Given the description of an element on the screen output the (x, y) to click on. 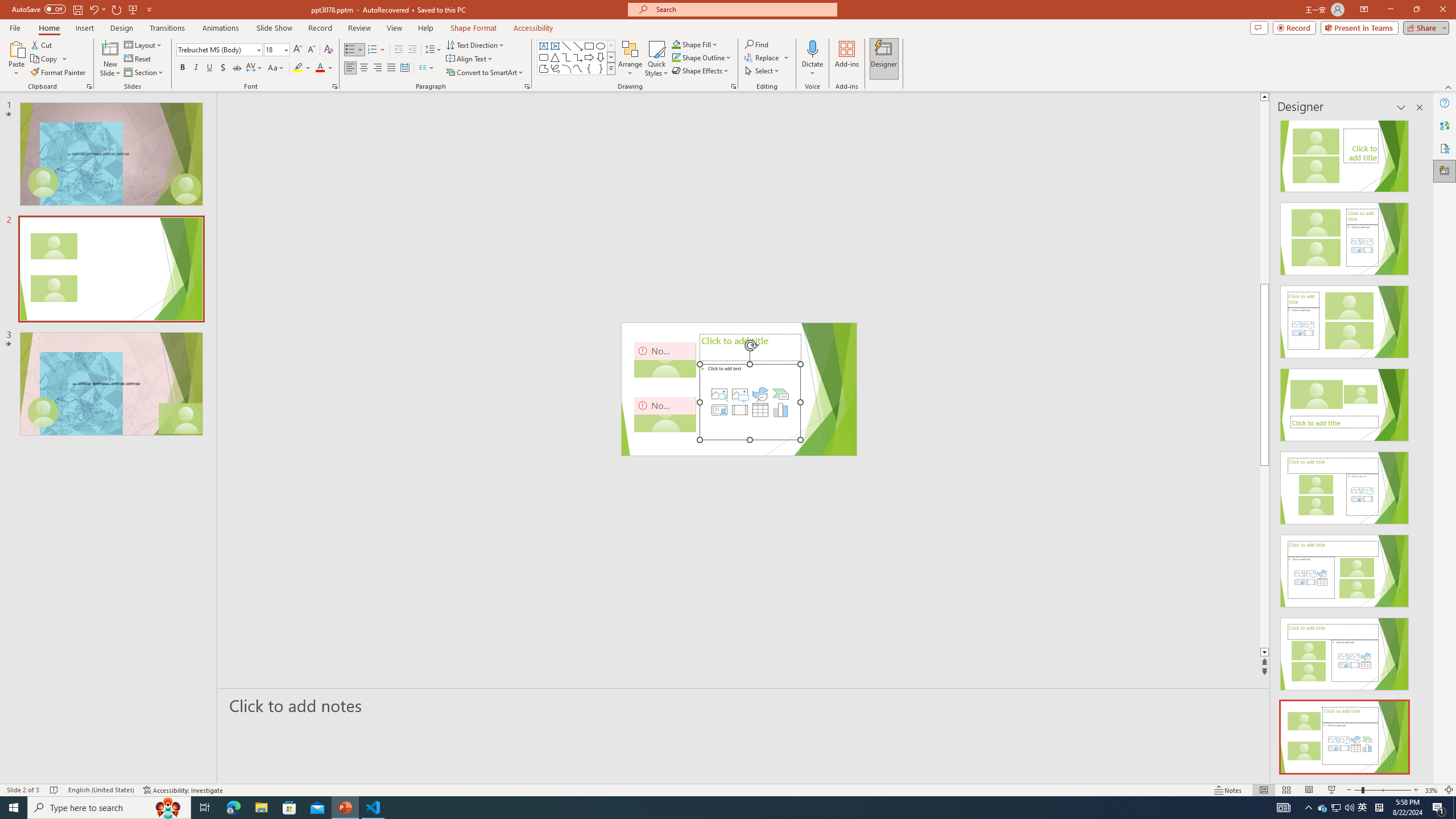
Insert a SmartArt Graphic (780, 394)
Shape Outline Green, Accent 1 (675, 56)
Shape Effects (700, 69)
